Given the description of an element on the screen output the (x, y) to click on. 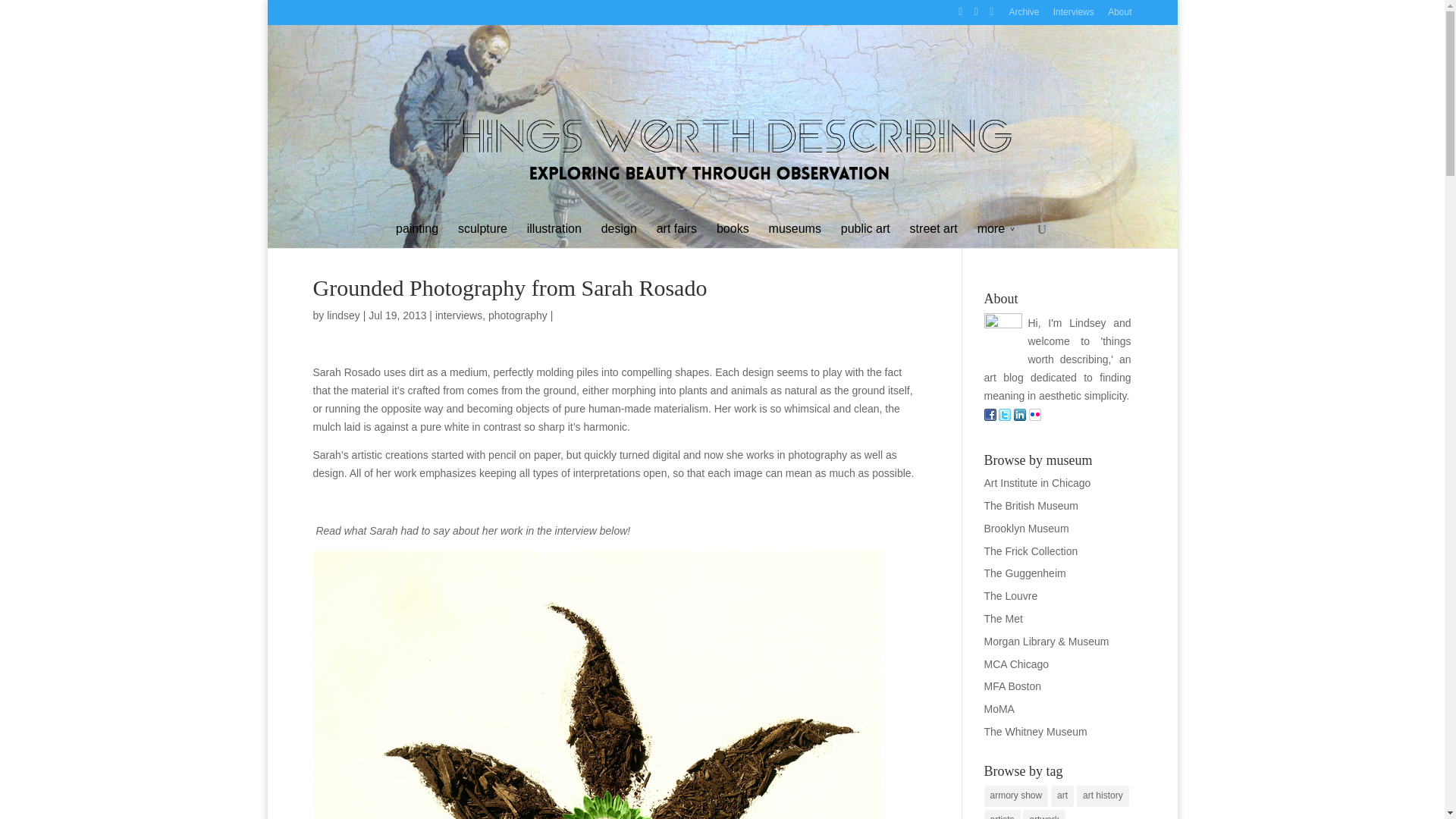
painting (417, 234)
street art (934, 234)
facebook (989, 417)
sculpture (482, 234)
twitter (1004, 417)
Archive (1024, 16)
public art (865, 234)
About (1119, 16)
design (619, 234)
books (732, 234)
linkedin (1019, 417)
Posts by lindsey (342, 315)
illustration (553, 234)
more (995, 234)
museums (794, 234)
